Given the description of an element on the screen output the (x, y) to click on. 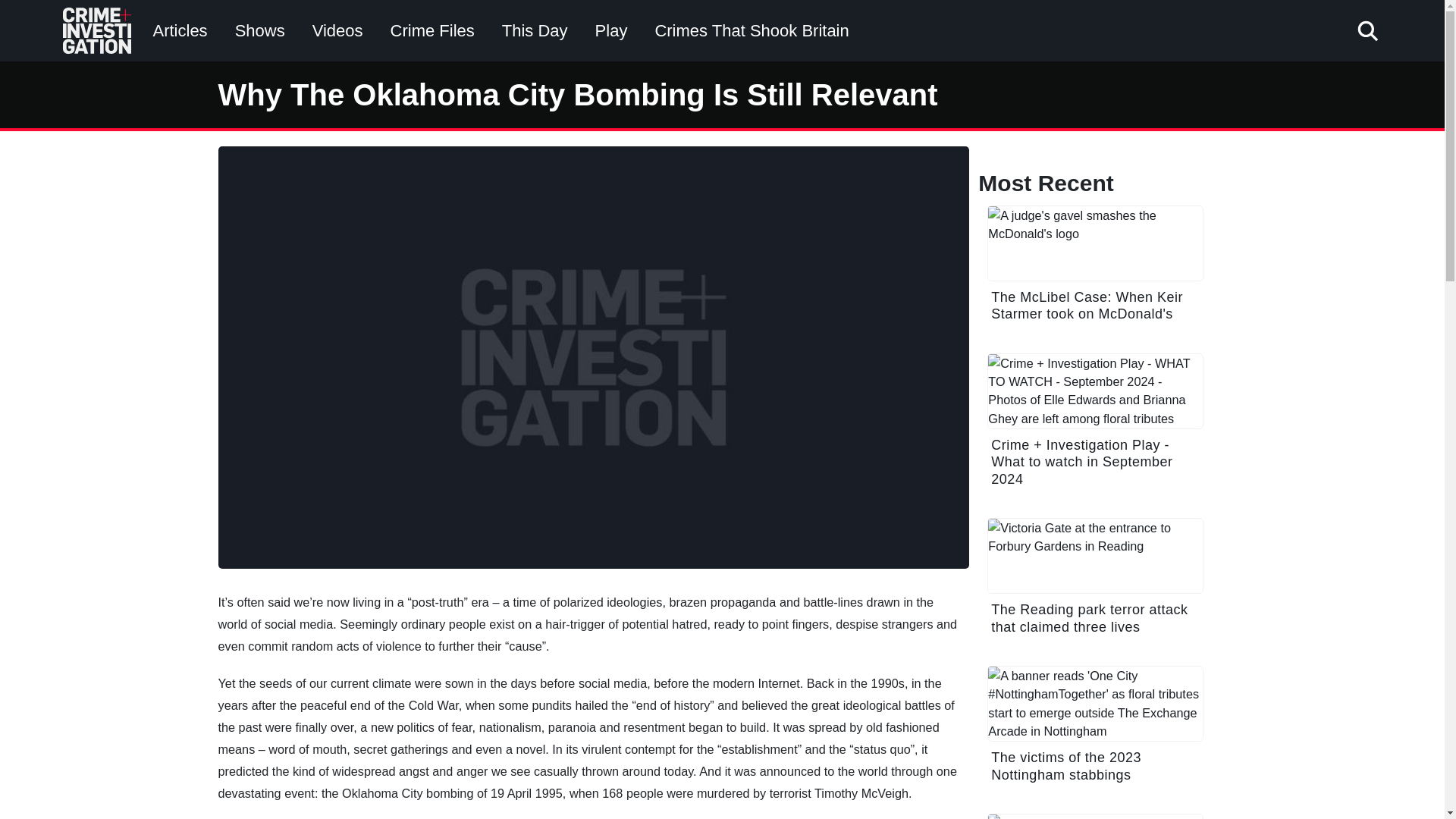
The victims of the 2023 Nottingham stabbings (1095, 731)
This Day (534, 30)
Videos (337, 30)
Shows (259, 30)
Articles (180, 30)
Crime Files (432, 30)
Play (611, 30)
Search (1007, 86)
Sophie Lancaster: Murdered for being different (1095, 816)
The Reading park terror attack that claimed three lives (1095, 583)
